Given the description of an element on the screen output the (x, y) to click on. 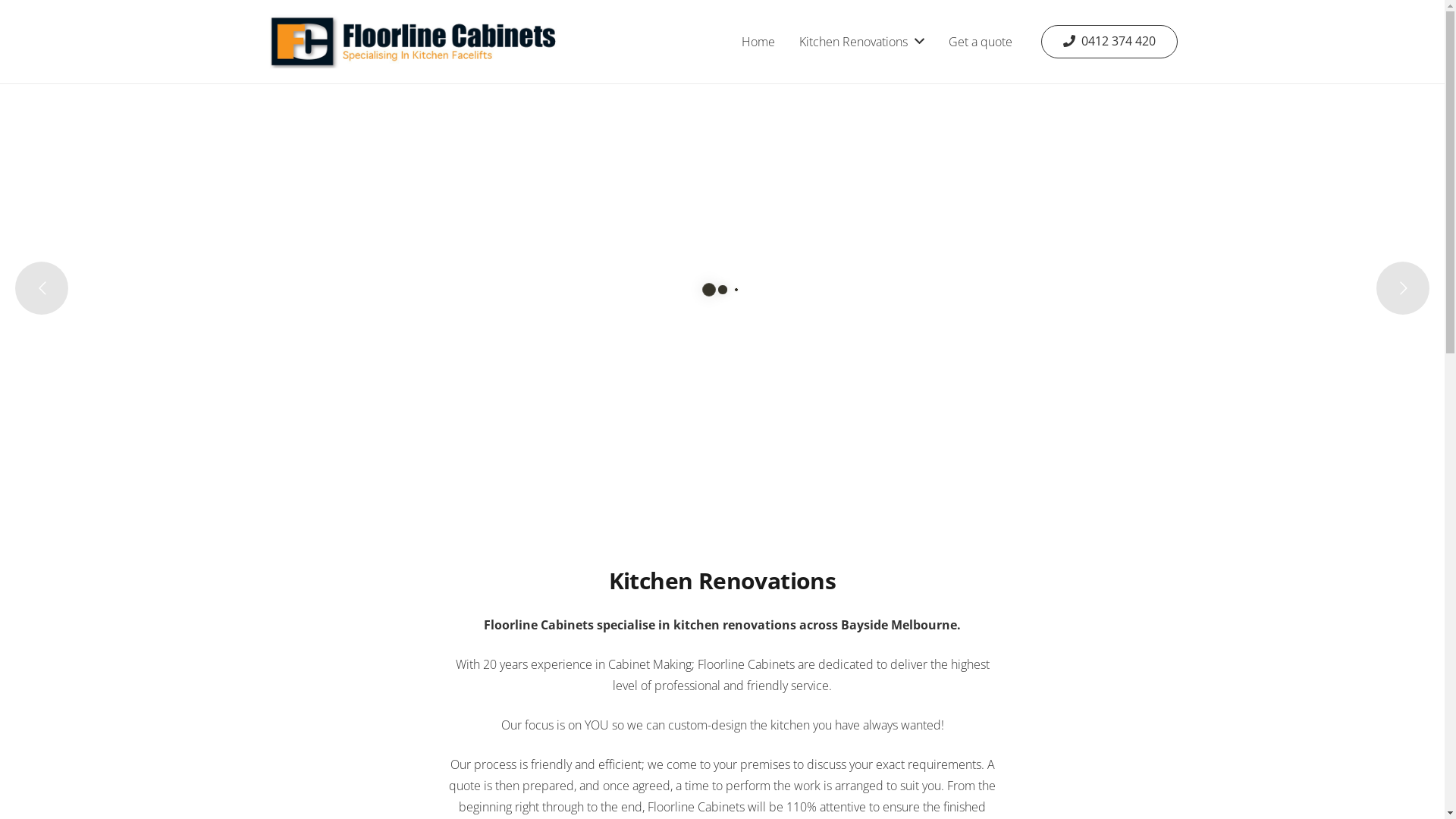
Kitchen Renovations Element type: text (861, 41)
Get a quote Element type: text (980, 41)
Home Element type: text (758, 41)
0412 374 420 Element type: text (1109, 42)
